Given the description of an element on the screen output the (x, y) to click on. 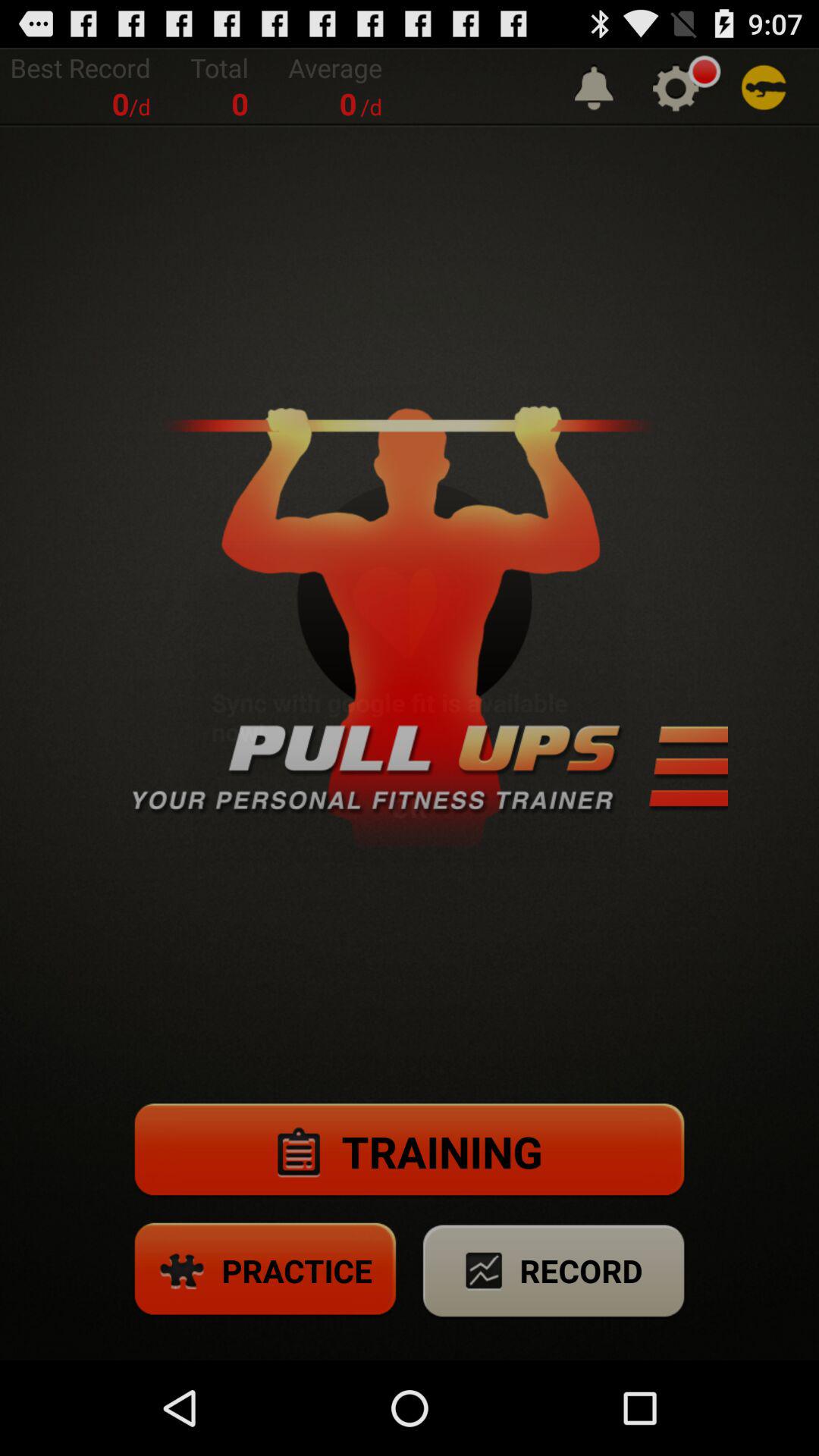
notifications (594, 87)
